Given the description of an element on the screen output the (x, y) to click on. 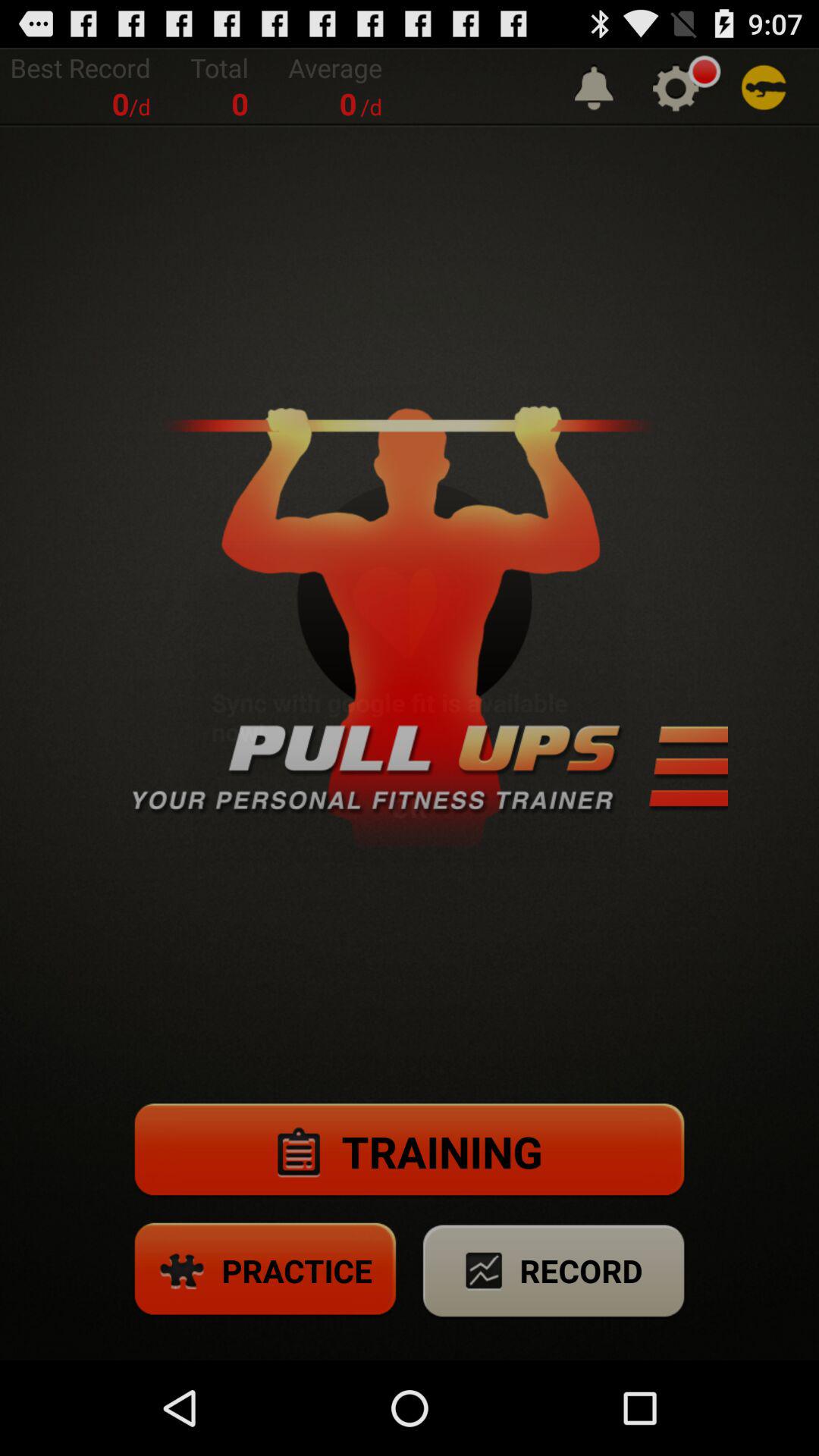
notifications (594, 87)
